Given the description of an element on the screen output the (x, y) to click on. 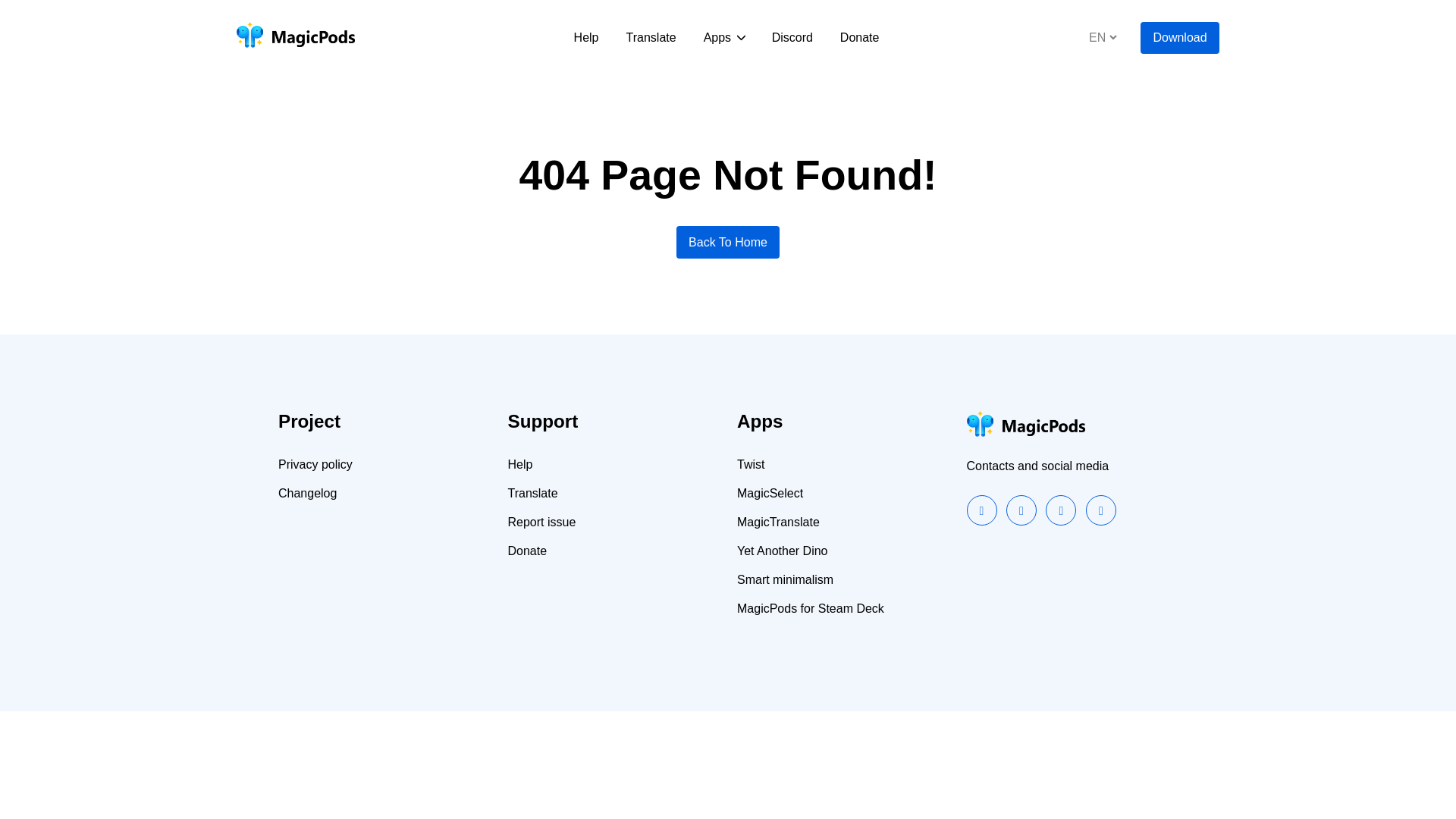
MagicSelect (769, 493)
Translate (532, 493)
Privacy policy (315, 464)
Donate (860, 37)
Translate (532, 493)
MagicPods for Steam Deck (809, 608)
github (1060, 510)
Smart minimalism (784, 579)
Changelog (307, 493)
Report issue (542, 522)
